Given the description of an element on the screen output the (x, y) to click on. 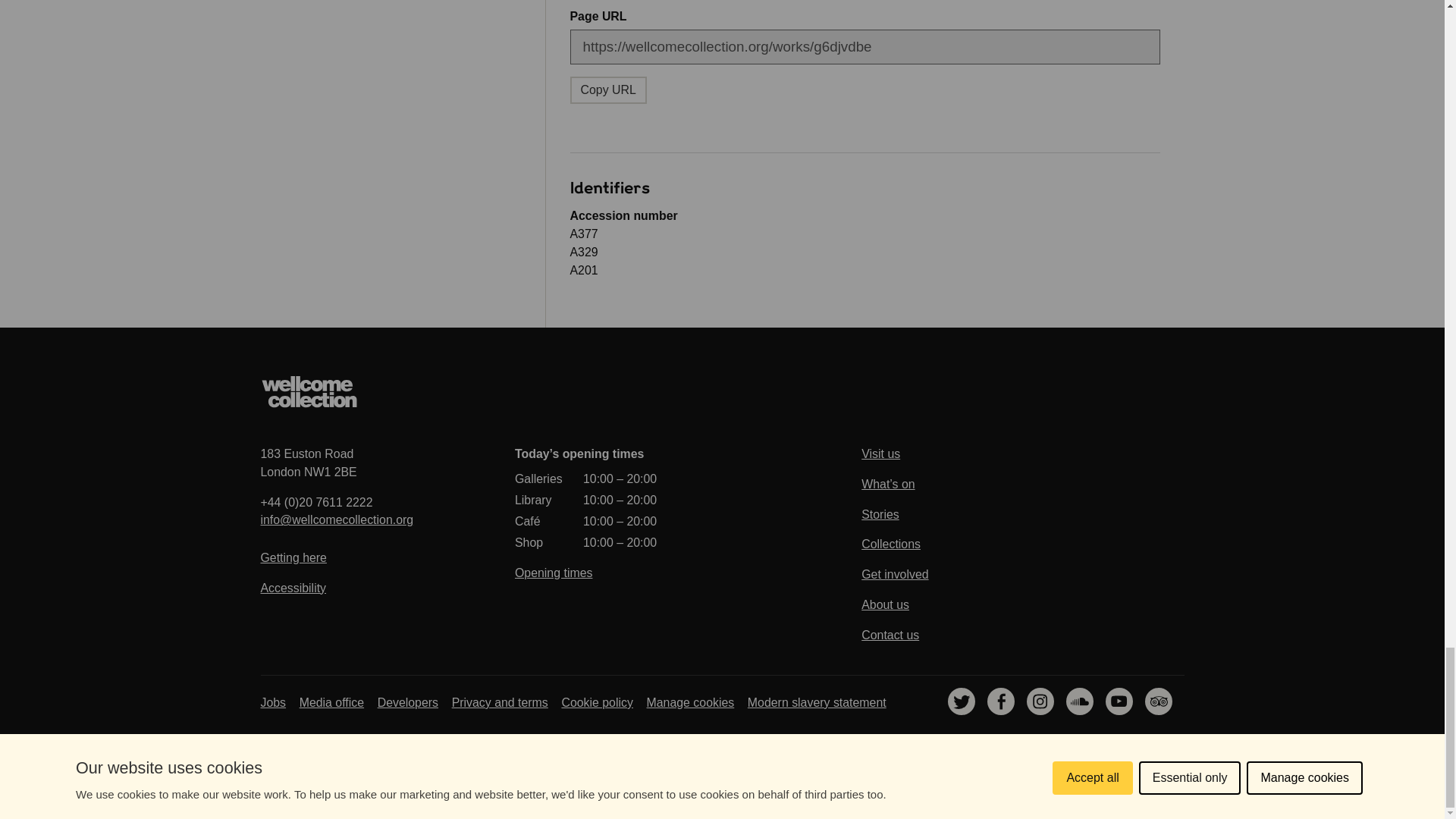
Opening times (553, 572)
Getting here (293, 557)
Wellcome Collection (308, 462)
Accessibility (309, 391)
Copy URL (293, 587)
